Given the description of an element on the screen output the (x, y) to click on. 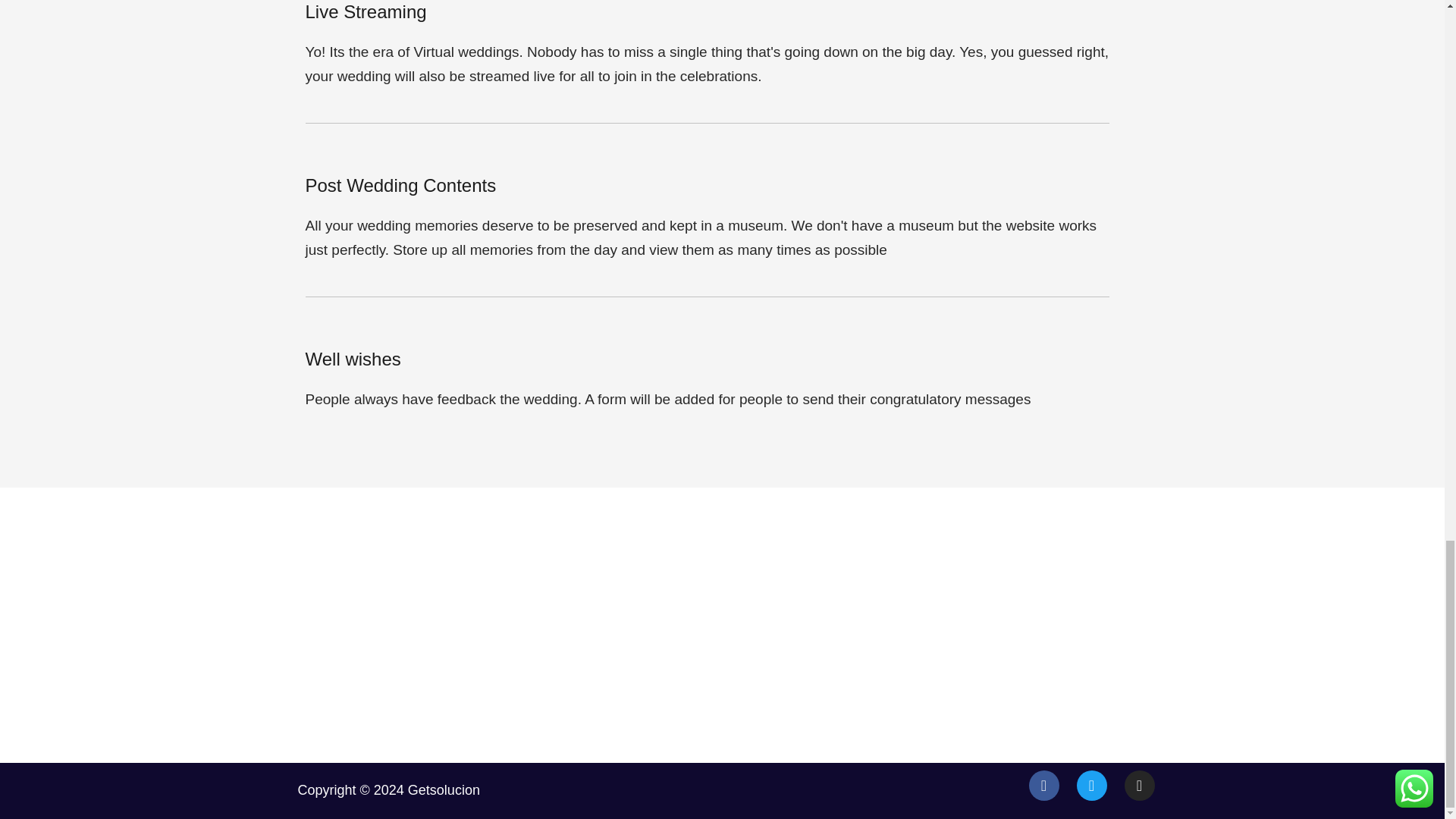
Church (1037, 619)
Services (839, 619)
Contact Us (839, 687)
Corporate (1037, 585)
Facebook (1042, 785)
Instagram (1139, 785)
Wedding (1037, 687)
Twitter (1091, 785)
Solutions (839, 653)
About Us (839, 585)
